Given the description of an element on the screen output the (x, y) to click on. 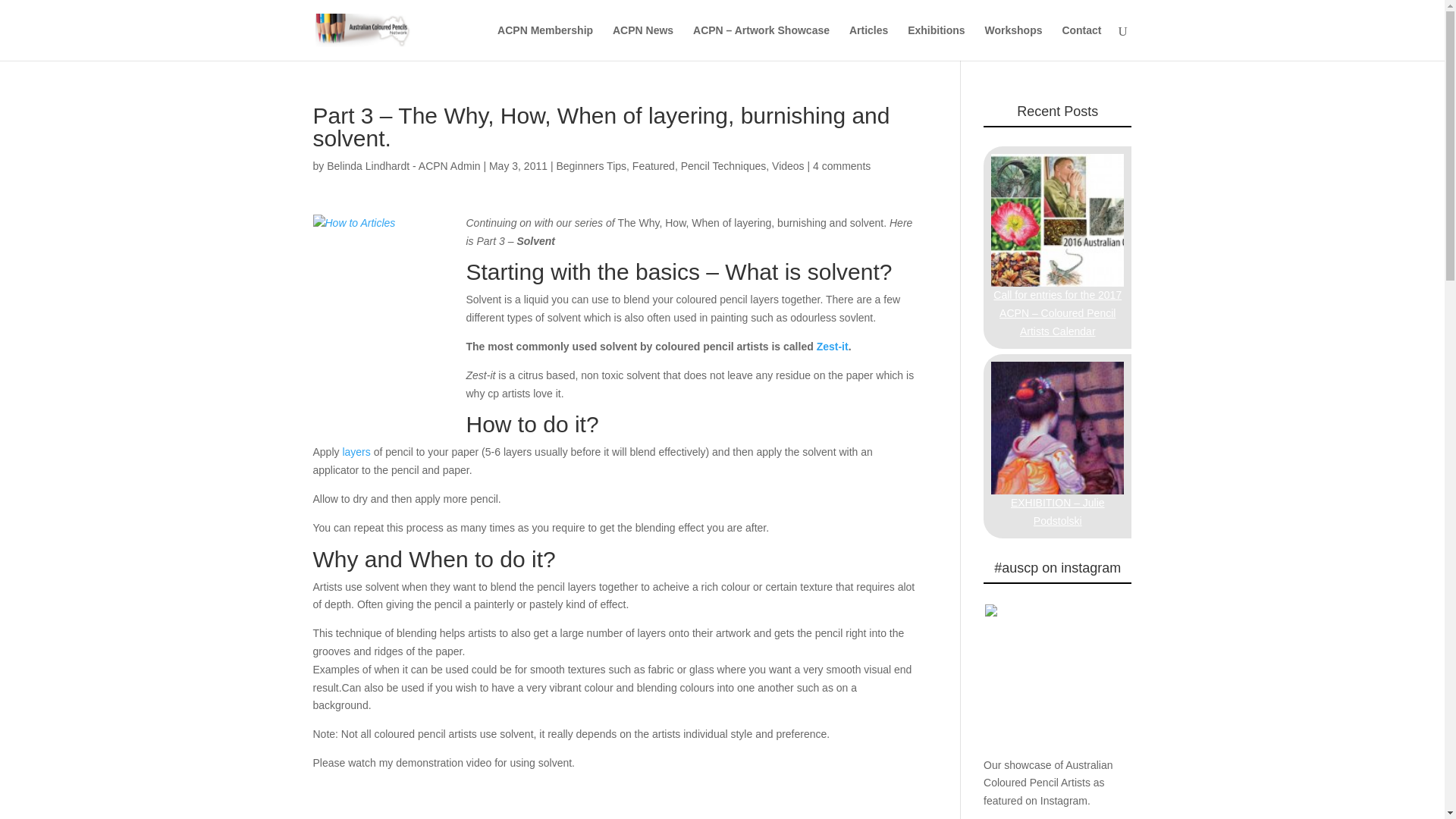
Check it out (1054, 806)
Articles (868, 42)
How to do layers (355, 451)
Workshops (1013, 42)
Posts by Belinda Lindhardt - ACPN Admin (403, 165)
Exhibitions (935, 42)
4 comments (841, 165)
Videos (788, 165)
ACPN Membership (544, 42)
Featured (653, 165)
